Given the description of an element on the screen output the (x, y) to click on. 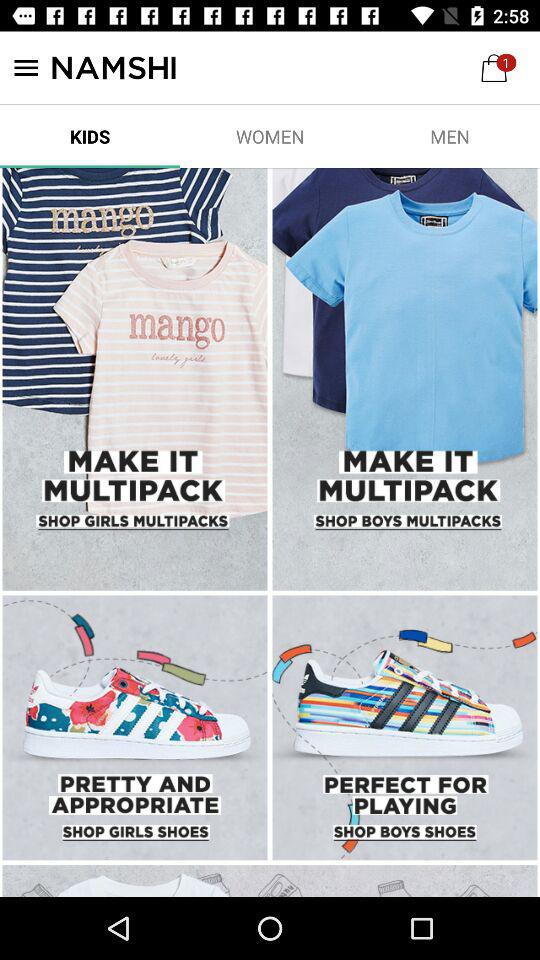
tap the icon next to the kids icon (270, 136)
